Given the description of an element on the screen output the (x, y) to click on. 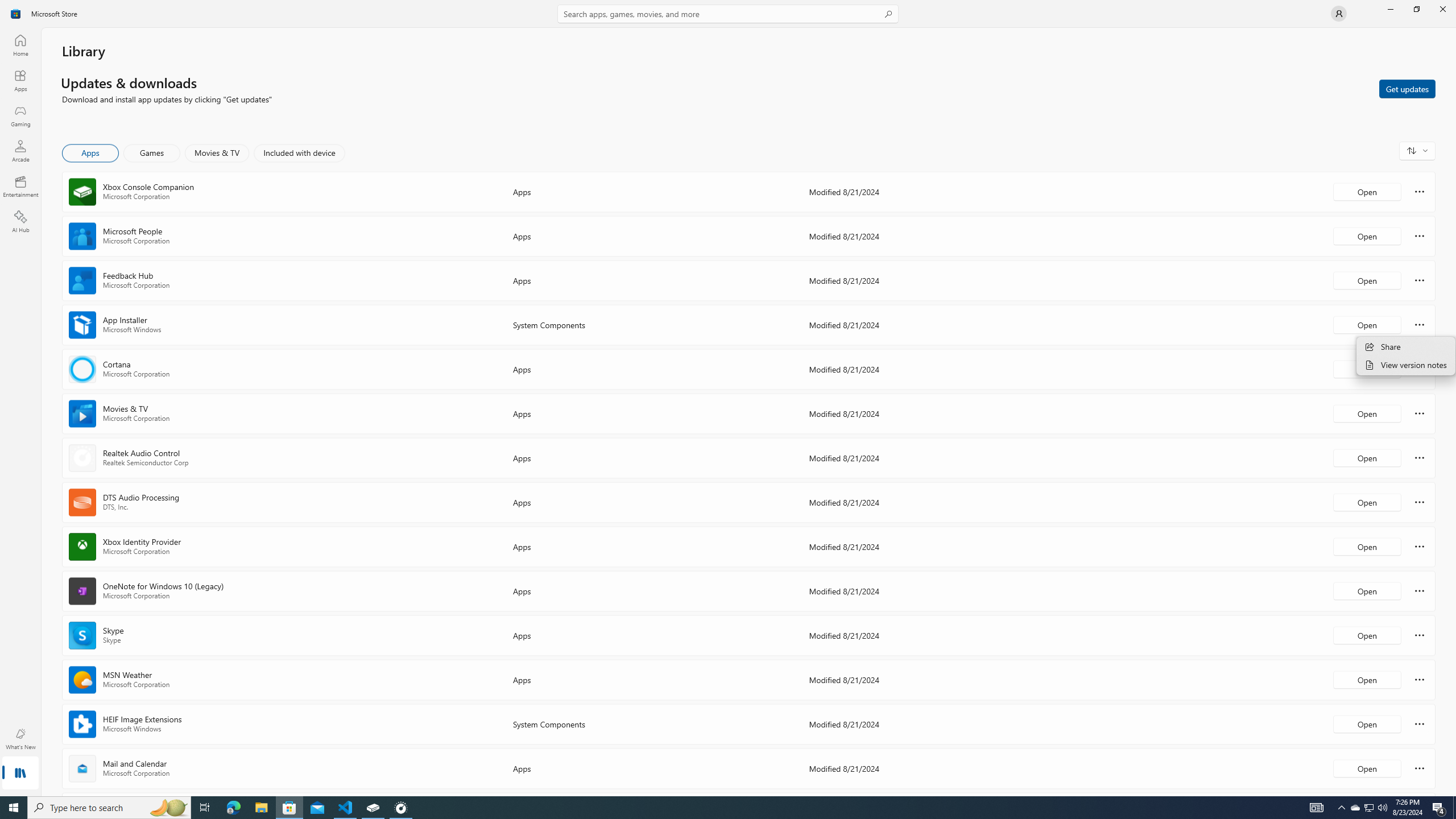
Included with device (299, 153)
Search (727, 13)
Sort and filter (1417, 149)
